Given the description of an element on the screen output the (x, y) to click on. 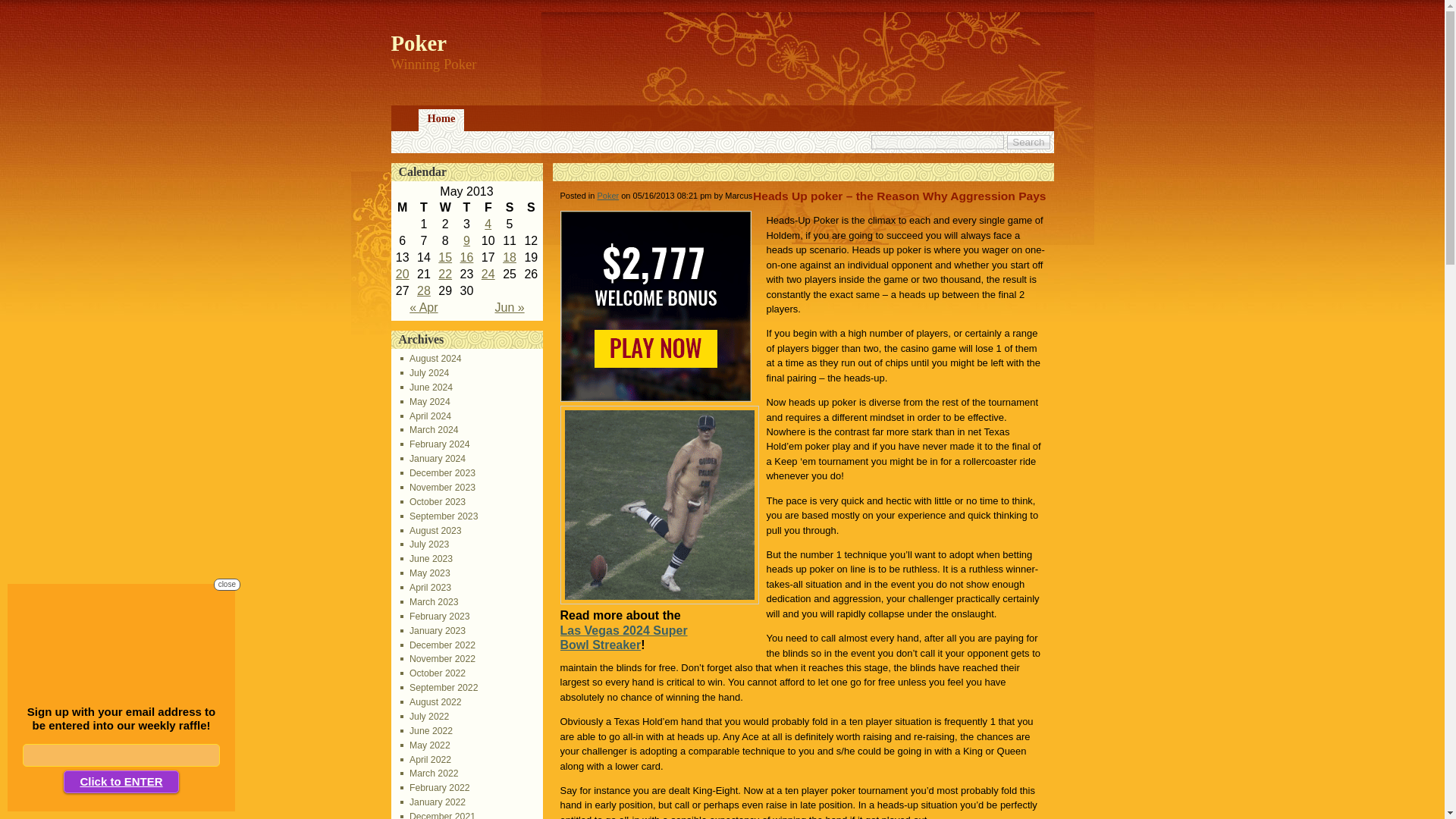
18 (509, 256)
May 2023 (424, 573)
24 (488, 273)
April 2024 (425, 416)
22 (444, 273)
February 2023 (435, 615)
August 2023 (430, 530)
October 2022 (432, 673)
December 2022 (438, 644)
November 2022 (438, 658)
